Given the description of an element on the screen output the (x, y) to click on. 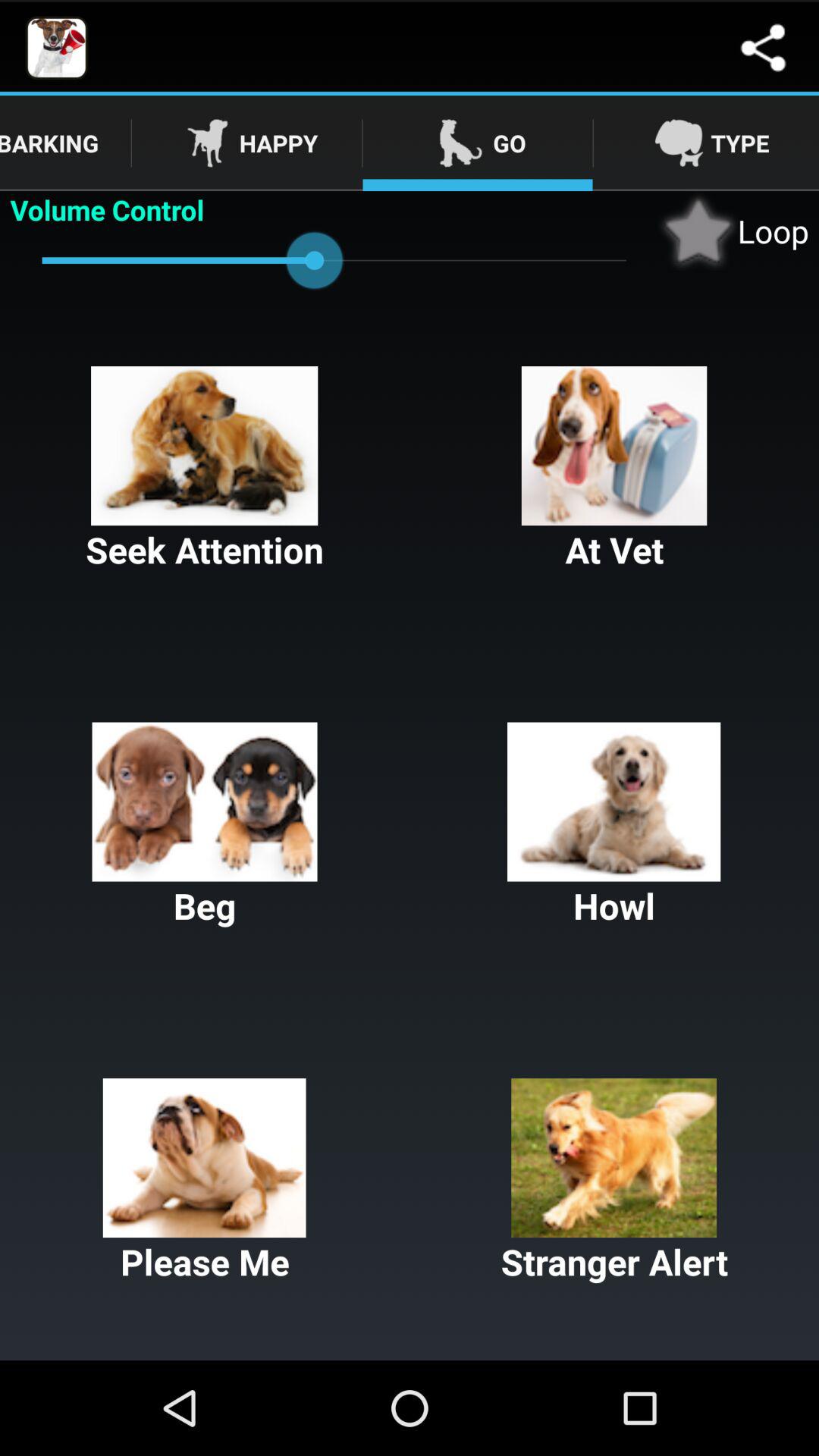
press the beg item (204, 825)
